Given the description of an element on the screen output the (x, y) to click on. 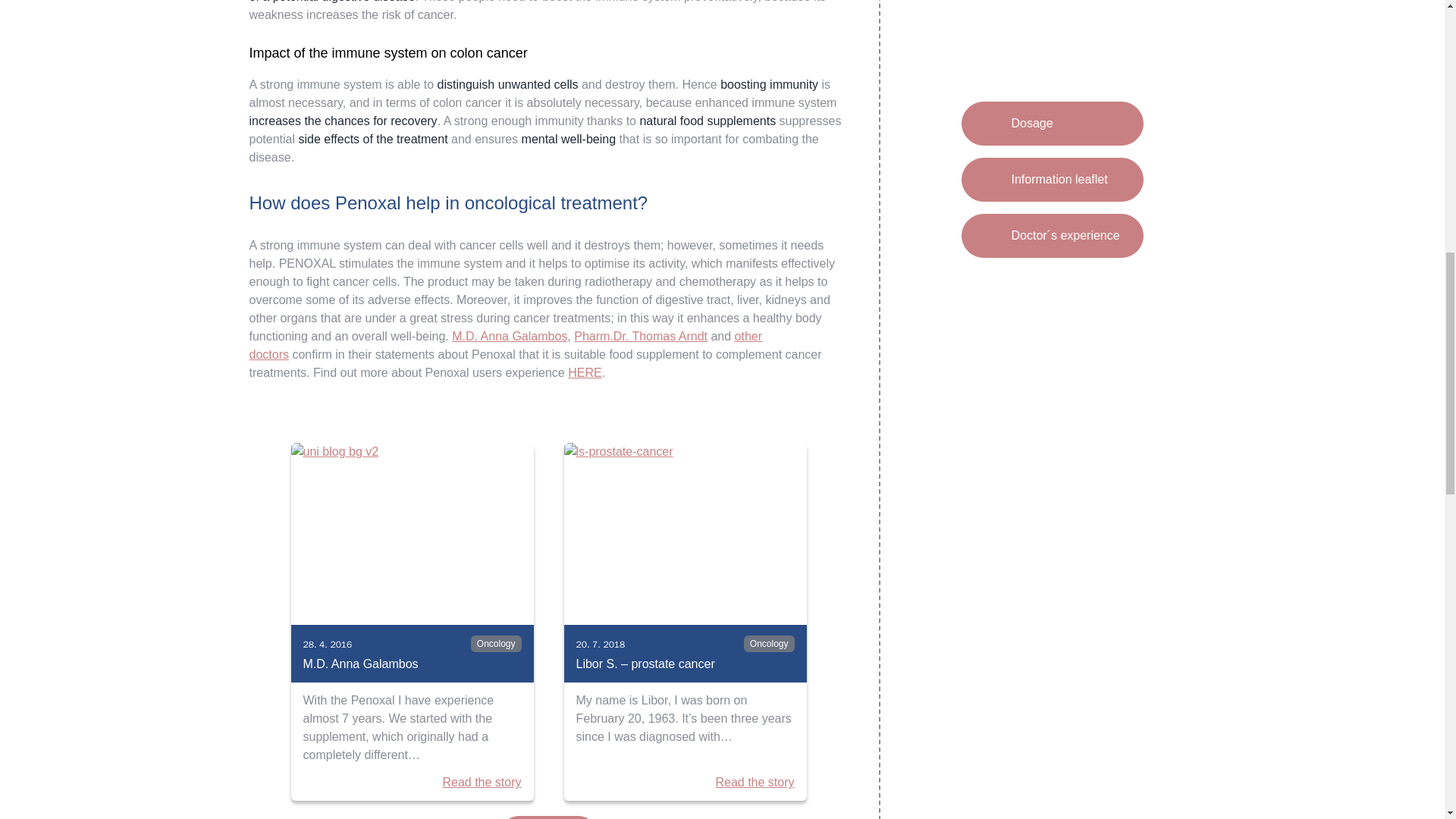
HERE (584, 372)
Read the story (481, 782)
Pharm.Dr. Thomas Arndt (640, 336)
Oncology (495, 643)
other doctors (504, 345)
M.D. Anna Galambos (411, 664)
M.D. Anna Galambos (509, 336)
Oncology (769, 643)
